Given the description of an element on the screen output the (x, y) to click on. 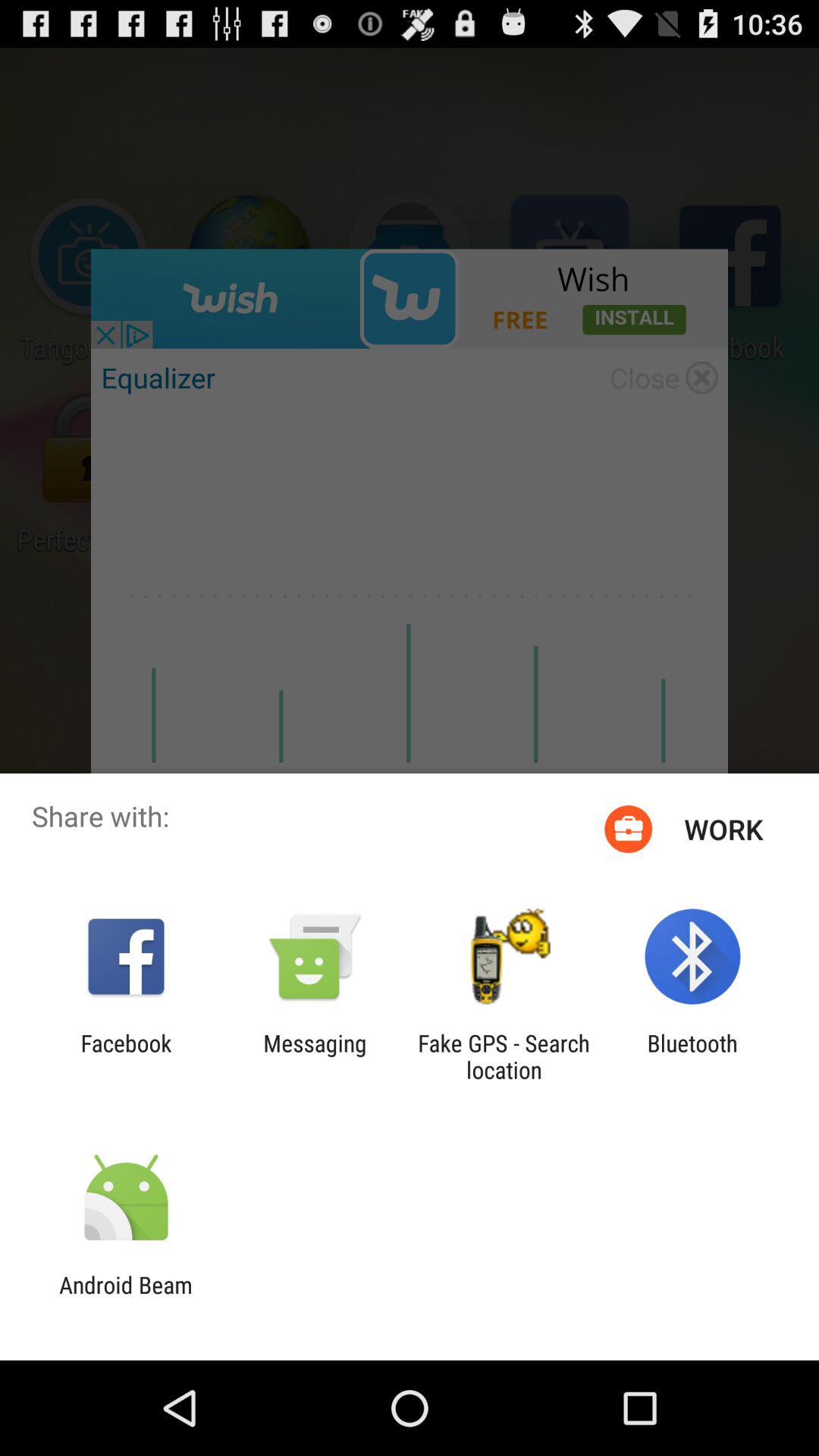
turn off item to the right of facebook icon (314, 1056)
